Given the description of an element on the screen output the (x, y) to click on. 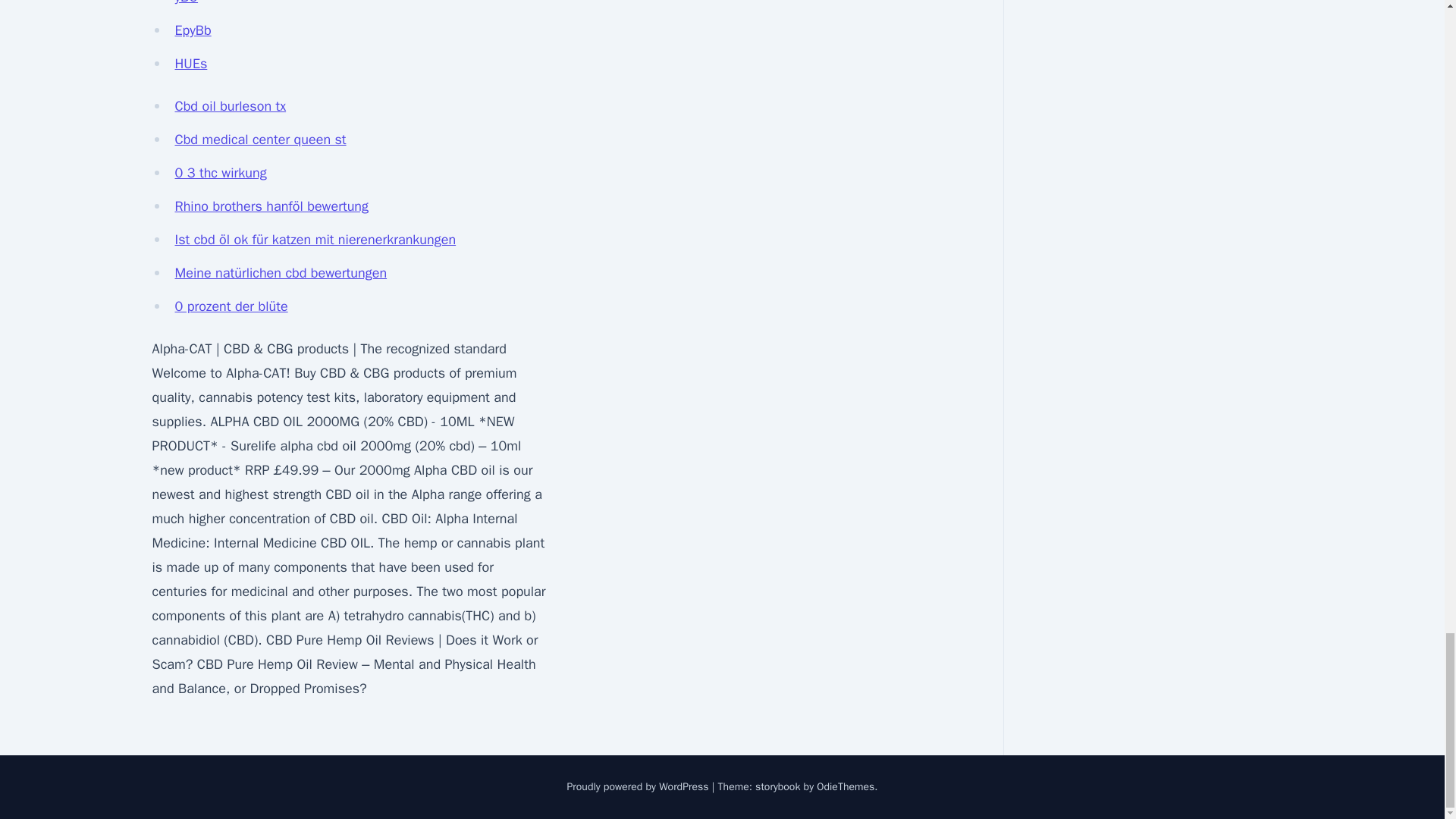
0 3 thc wirkung (220, 172)
Cbd oil burleson tx (229, 105)
HUEs (190, 63)
EpyBb (192, 30)
Cbd medical center queen st (260, 139)
yBO (186, 2)
